Given the description of an element on the screen output the (x, y) to click on. 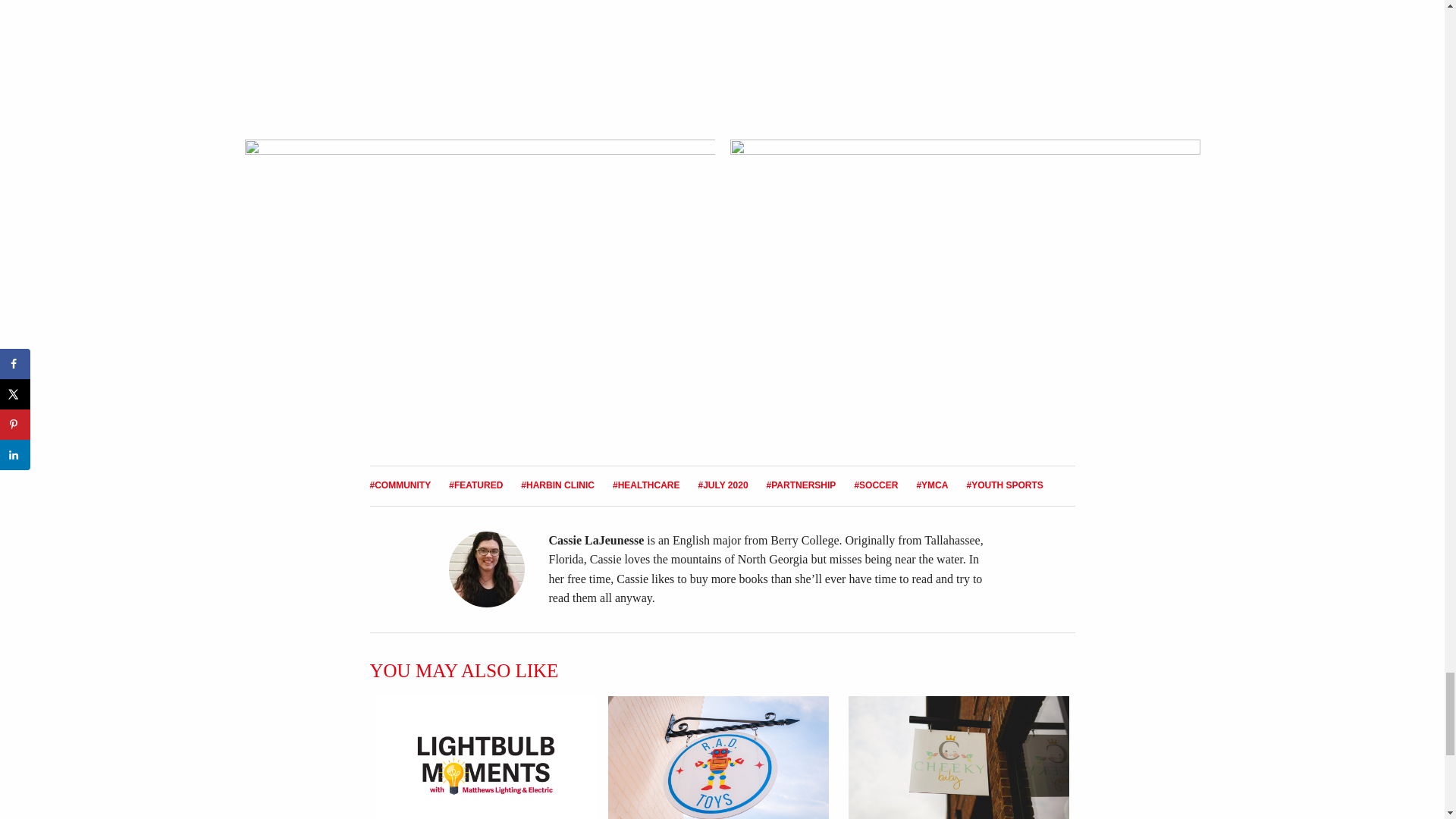
Posts by Cassie LaJeunesse (596, 540)
